Given the description of an element on the screen output the (x, y) to click on. 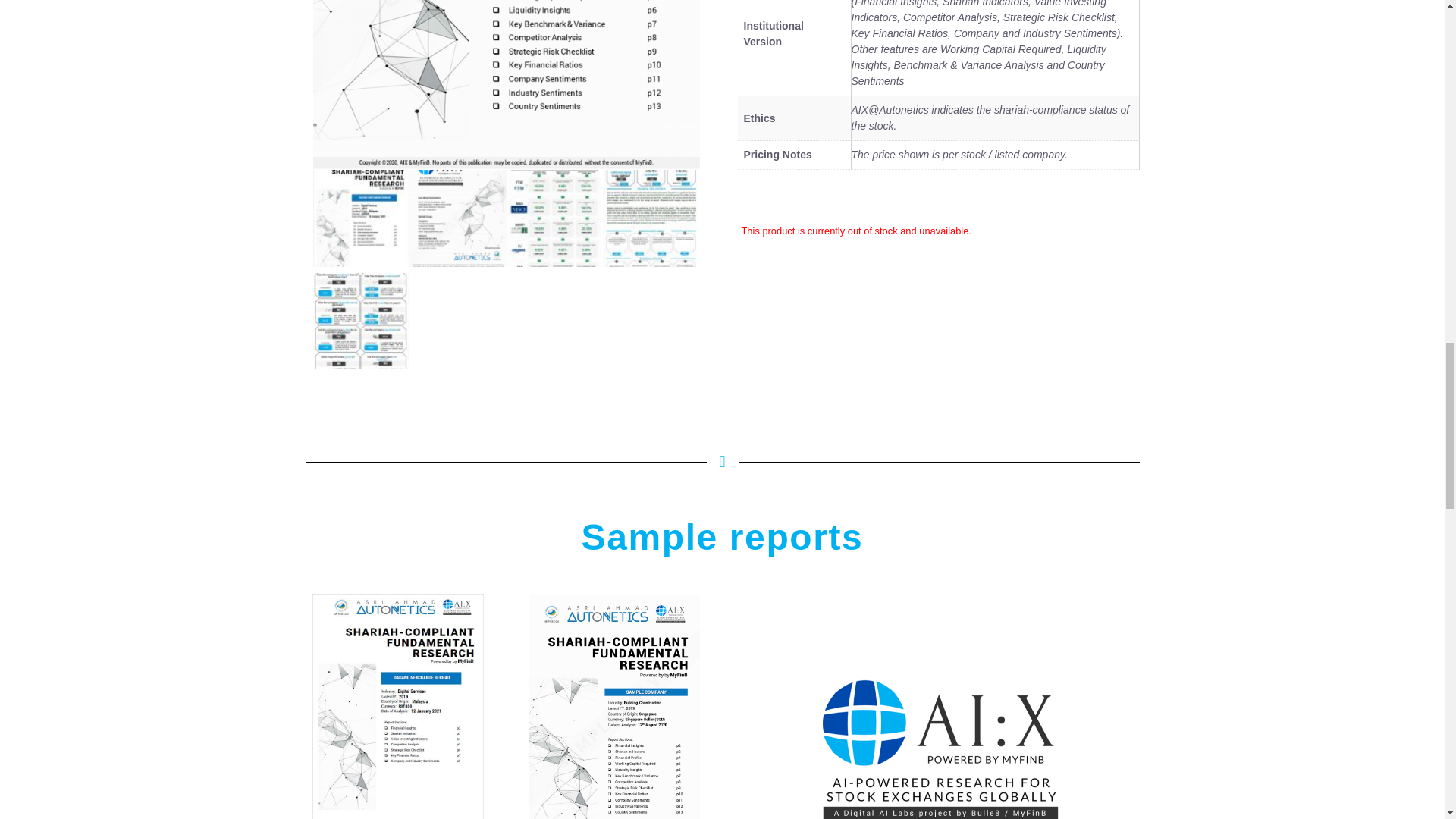
AIX Autonetics Institutional Report Cover (505, 84)
AIX Financial Insights (651, 217)
AIX Autonetics Endpage (457, 217)
AIX Autonetics Retail Cover (361, 217)
AIX Value Investing Indicators (361, 321)
AIX Shariah Indicators (555, 217)
